Given the description of an element on the screen output the (x, y) to click on. 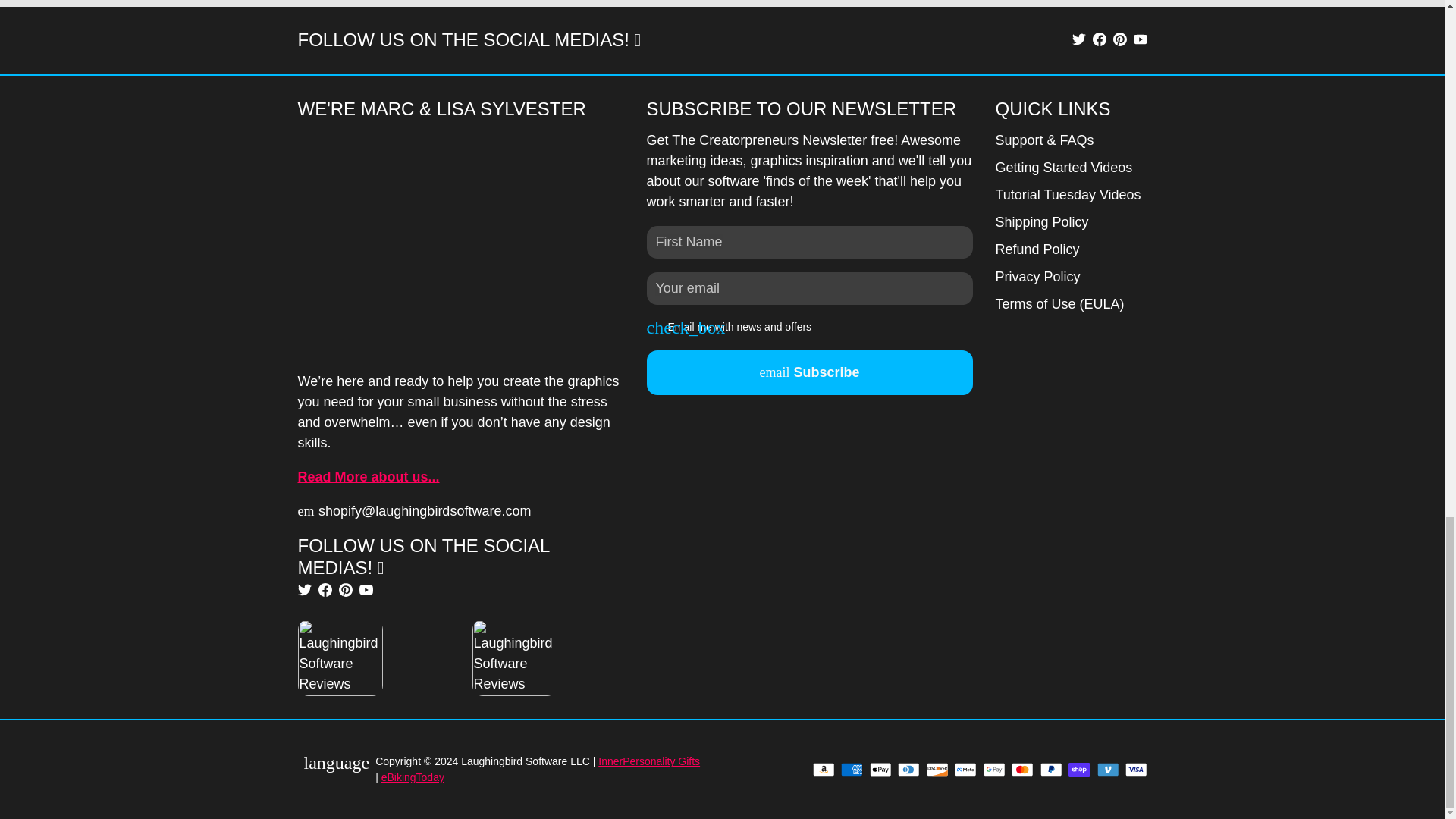
Diners Club (909, 769)
Apple Pay (880, 769)
Discover (936, 769)
Mastercard (1022, 769)
American Express (851, 769)
Amazon (823, 769)
Google Pay (993, 769)
Meta Pay (965, 769)
